Given the description of an element on the screen output the (x, y) to click on. 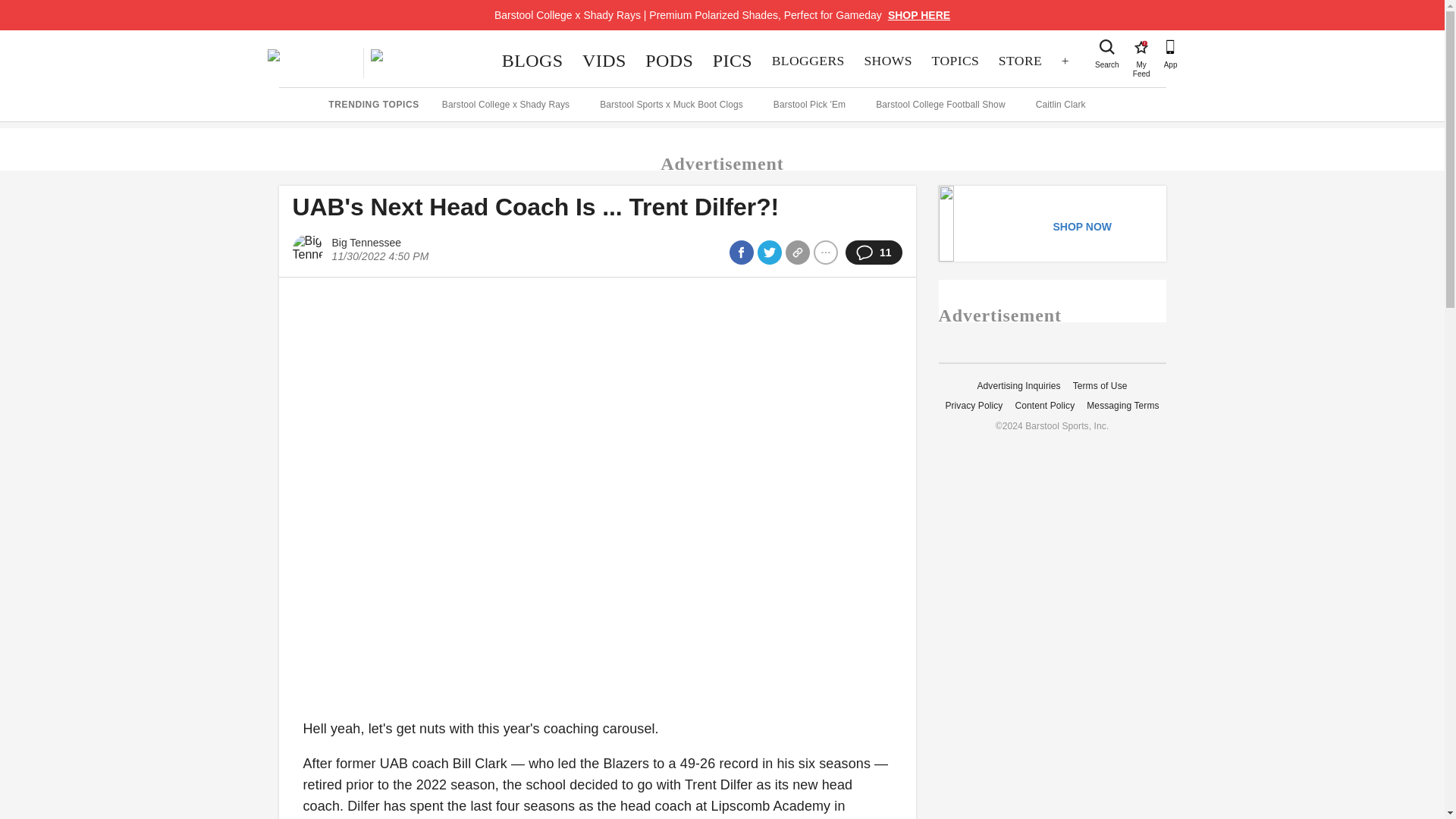
BLOGGERS (807, 60)
SHOP HERE (919, 15)
BLOGS (532, 60)
TOPICS (954, 60)
VIDS (603, 60)
Search (1107, 46)
STORE (1019, 60)
PICS (1141, 46)
PODS (732, 60)
